Given the description of an element on the screen output the (x, y) to click on. 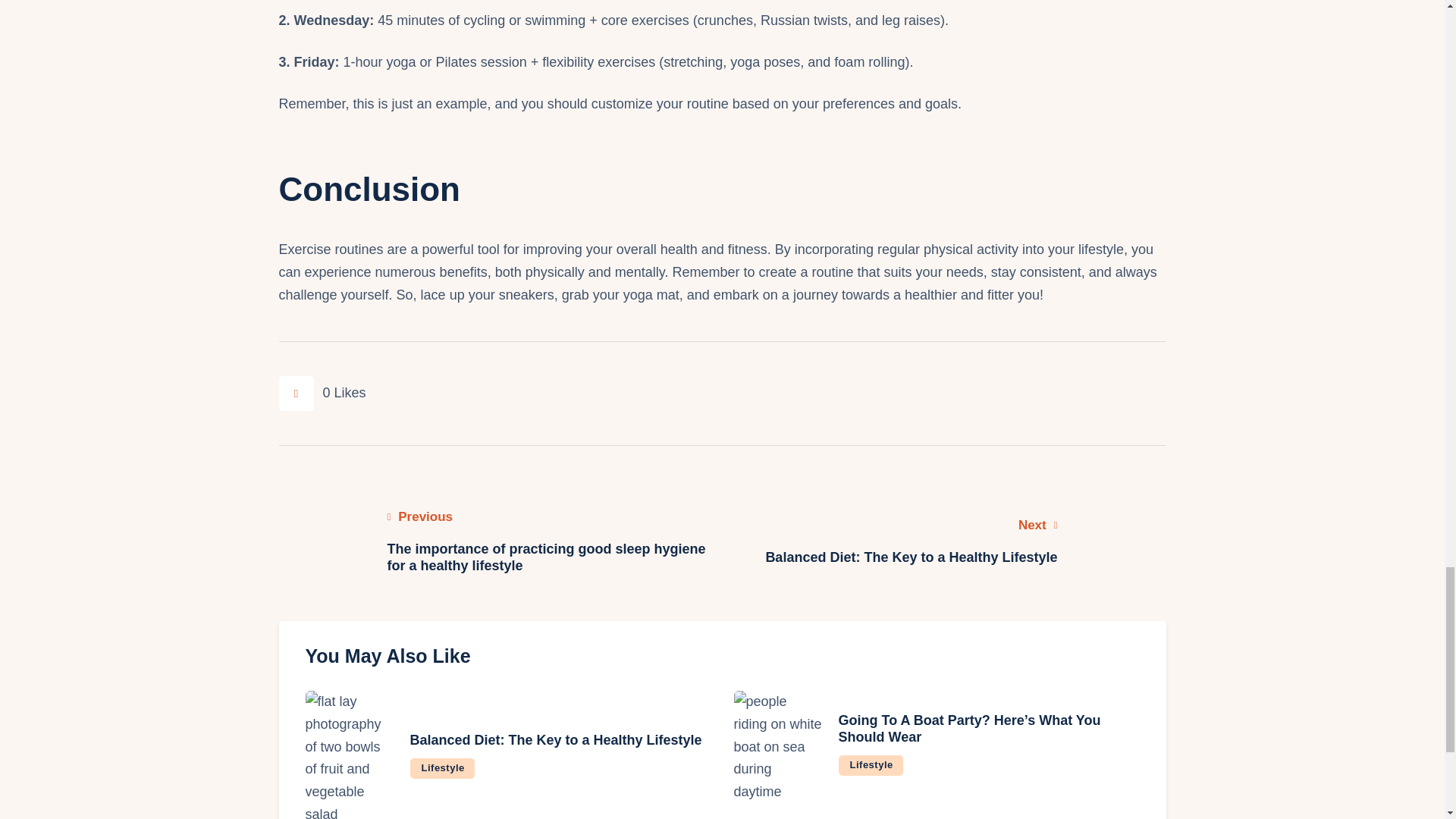
0Likes (322, 393)
Lifestyle (949, 542)
Lifestyle (441, 768)
Balanced Diet: The Key to a Healthy Lifestyle (870, 765)
Like (555, 740)
